Given the description of an element on the screen output the (x, y) to click on. 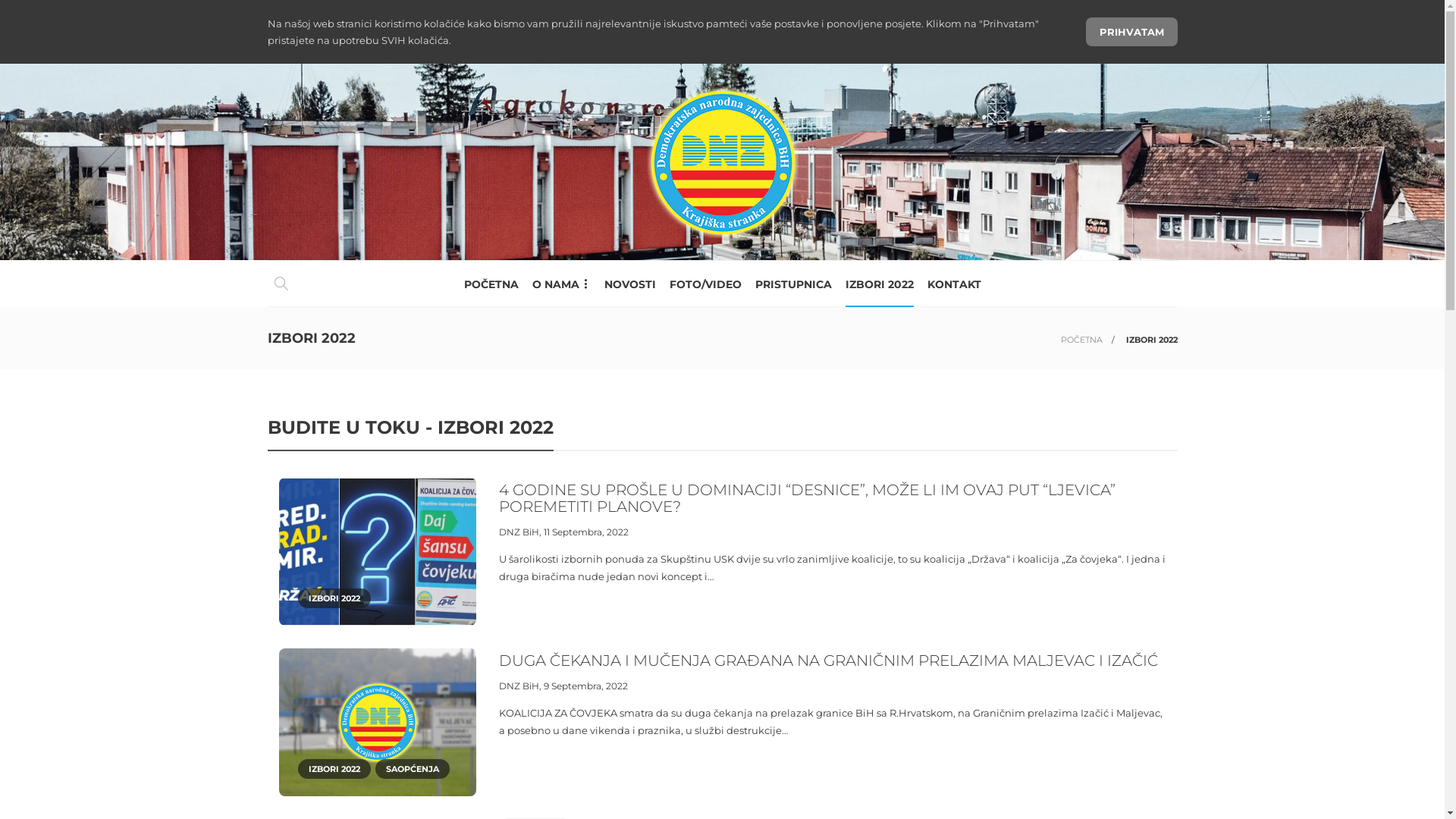
NOVOSTI Element type: text (629, 284)
IZBORI 2022 Element type: text (878, 284)
KONTAKT Element type: text (953, 284)
DNZ BiH Element type: text (518, 685)
PRISTUPNICA Element type: text (793, 284)
IZBORI 2022 Element type: text (333, 598)
FOTO/VIDEO Element type: text (704, 284)
11 Septembra, 2022 Element type: text (584, 531)
DNZ BiH Element type: text (518, 531)
O NAMA Element type: text (561, 284)
IZBORI 2022 Element type: text (333, 768)
PRIHVATAM Element type: text (1131, 31)
9 Septembra, 2022 Element type: text (584, 685)
